Given the description of an element on the screen output the (x, y) to click on. 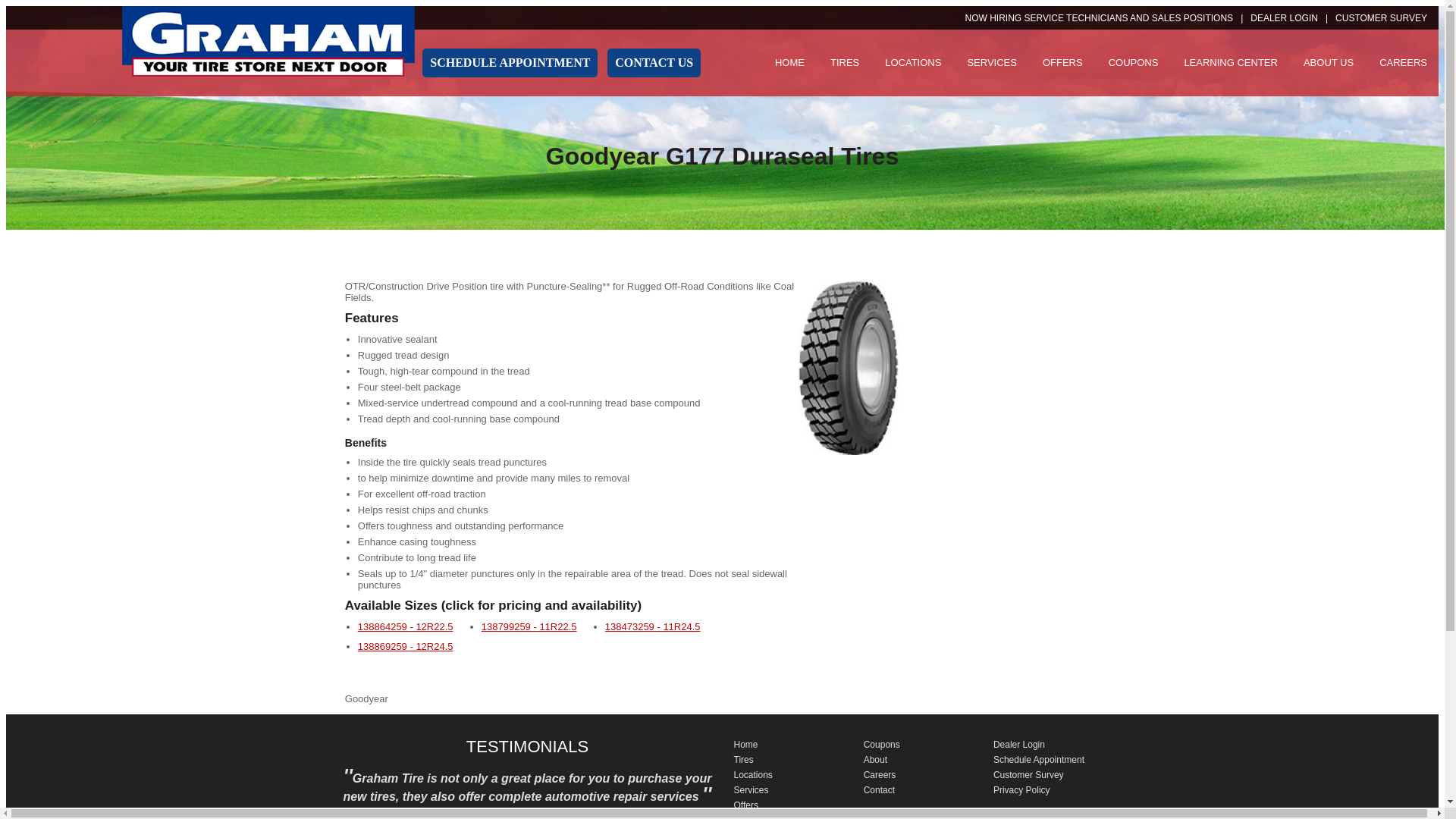
CUSTOMER SURVEY (1380, 18)
CONTACT US (653, 62)
LEARNING CENTER (1230, 62)
Customer Survey (1028, 774)
Coupons (881, 744)
COUPONS (1133, 62)
DEALER LOGIN (1292, 18)
Careers (879, 774)
138799259 - 11R22.5 (528, 626)
Home (745, 744)
Privacy Policy (1020, 789)
About (874, 759)
ABOUT US (1328, 62)
LOCATIONS (912, 62)
Offers (745, 805)
